Given the description of an element on the screen output the (x, y) to click on. 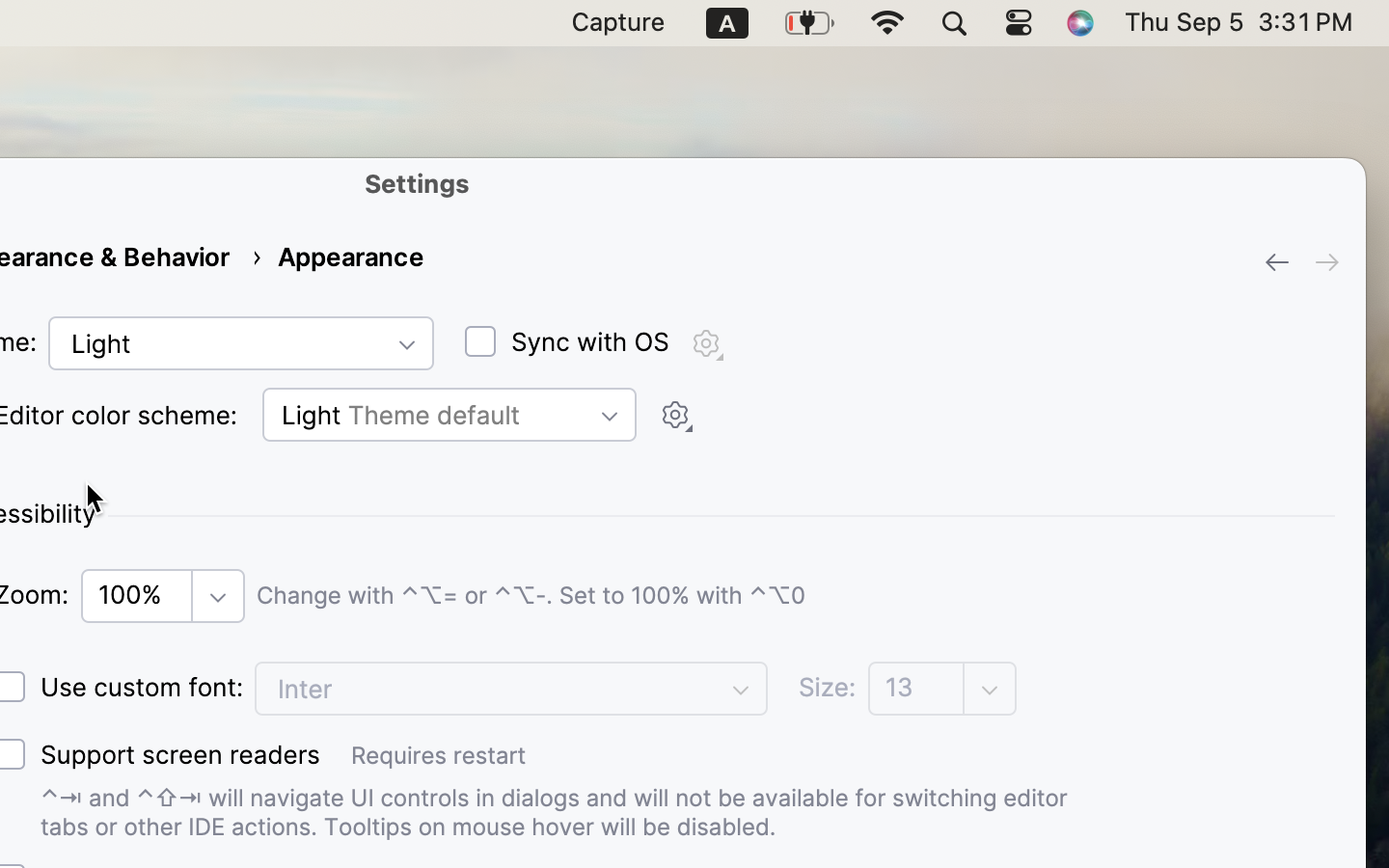
Light Theme default Element type: AXPopUpButton (449, 414)
Size: Element type: AXStaticText (827, 687)
13 Element type: AXTextField (918, 687)
Settings Element type: AXStaticText (417, 182)
100% Element type: AXTextField (138, 594)
